Given the description of an element on the screen output the (x, y) to click on. 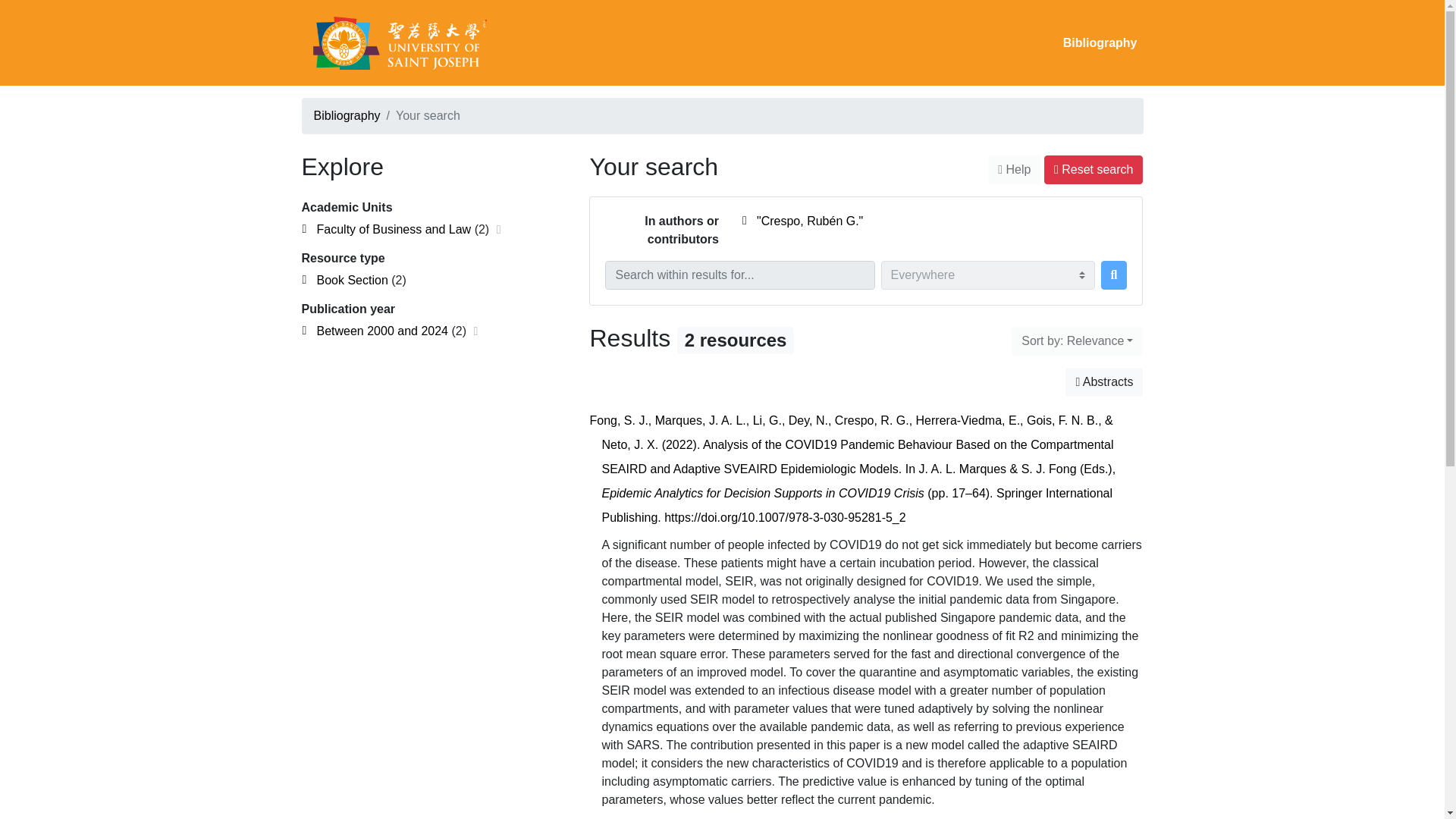
Book Section (352, 279)
Help (1014, 169)
Add the 'Faculty of Business and Law' filter (394, 228)
Search (1113, 275)
Hide abstracts (1103, 381)
Bibliography (347, 115)
Faculty of Business and Law (394, 228)
Abstracts (1103, 381)
Sort by: Relevance (1076, 340)
Between 2000 and 2024 (382, 330)
